Given the description of an element on the screen output the (x, y) to click on. 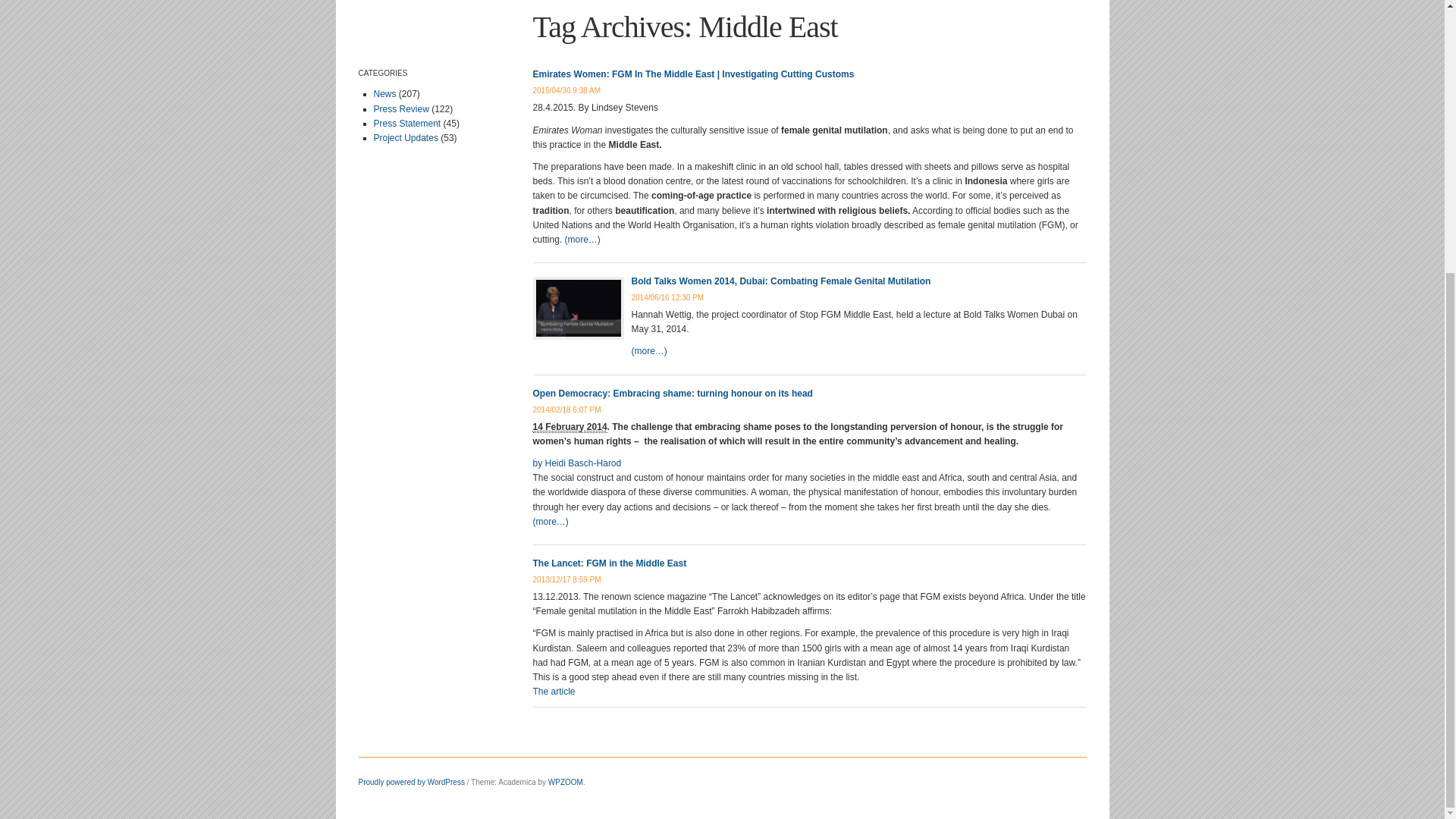
Permanent Link to The Lancet: FGM in the Middle East (608, 562)
Permanent Link to The Lancet: FGM in the Middle East (565, 579)
